Given the description of an element on the screen output the (x, y) to click on. 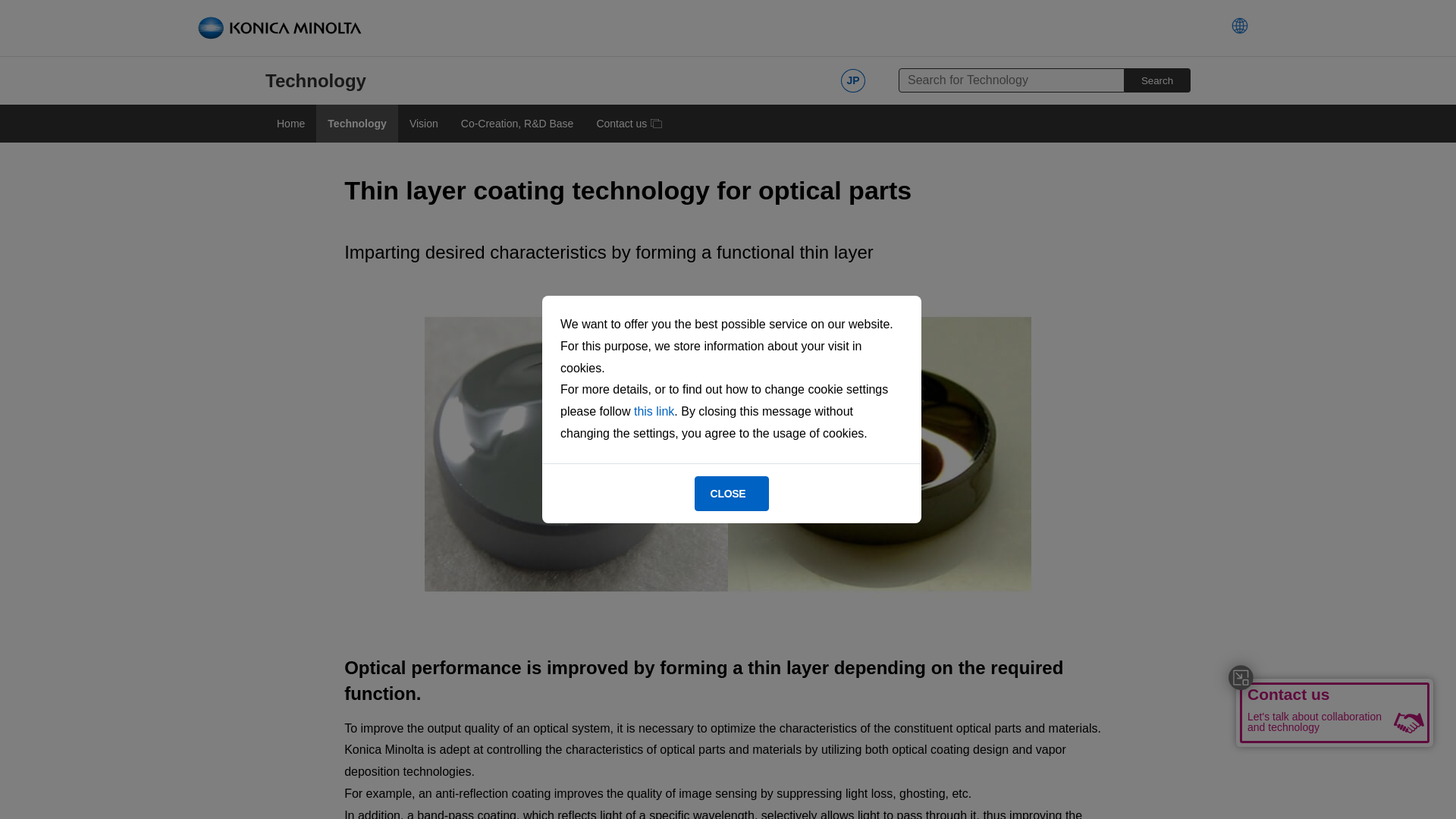
Technology (315, 80)
this link (653, 410)
Home (289, 123)
Search (1157, 79)
JP (852, 80)
Technology (356, 123)
Vision (423, 123)
CLOSE (732, 493)
Contact us (630, 123)
